Given the description of an element on the screen output the (x, y) to click on. 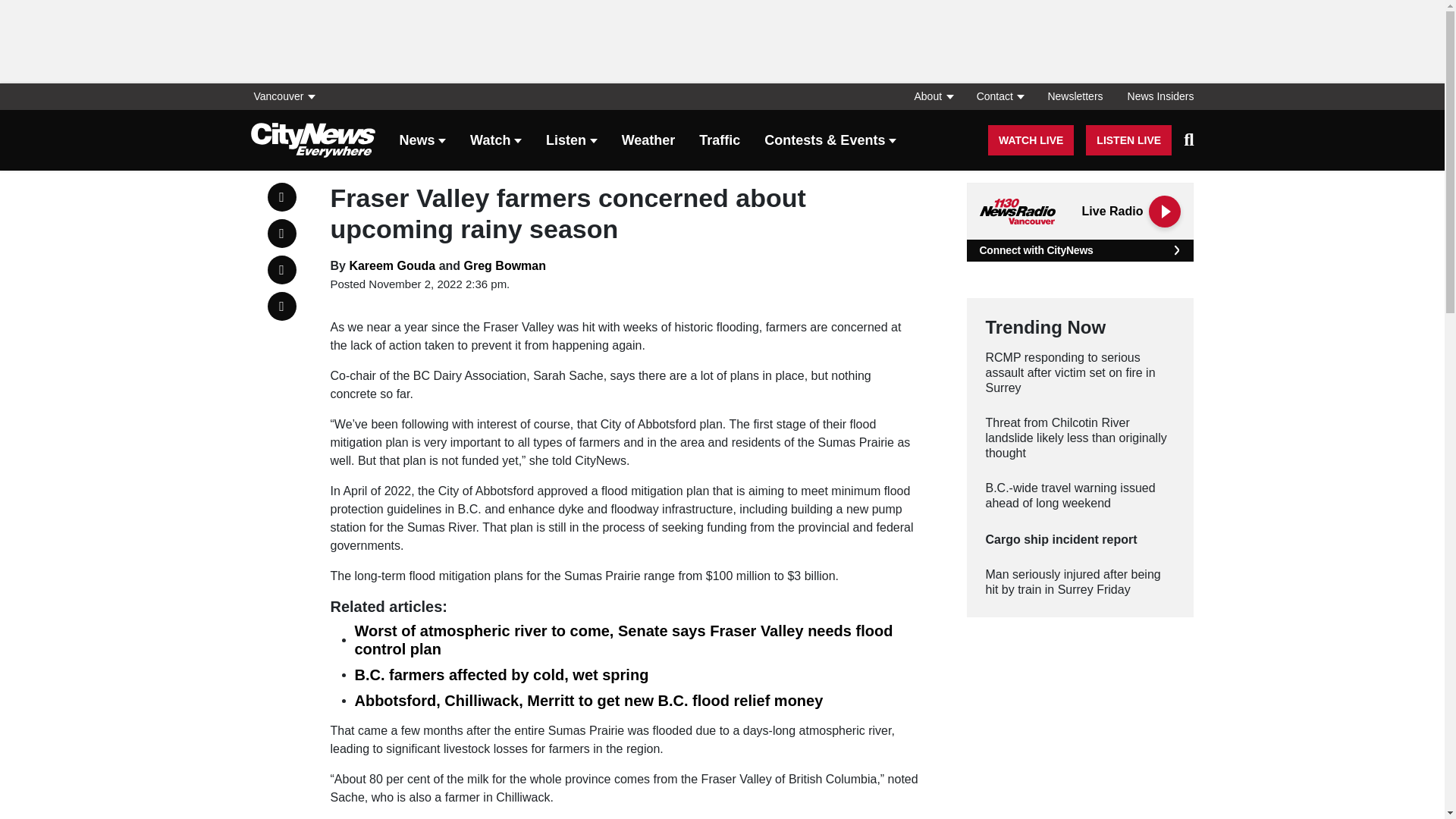
B.C.-wide travel warning issued ahead of long weekend (1079, 495)
Newsletters (1075, 96)
Watch (495, 140)
Vancouver (287, 96)
News (421, 140)
Listen (571, 140)
Contact (999, 96)
About (932, 96)
News Insiders (1154, 96)
